Given the description of an element on the screen output the (x, y) to click on. 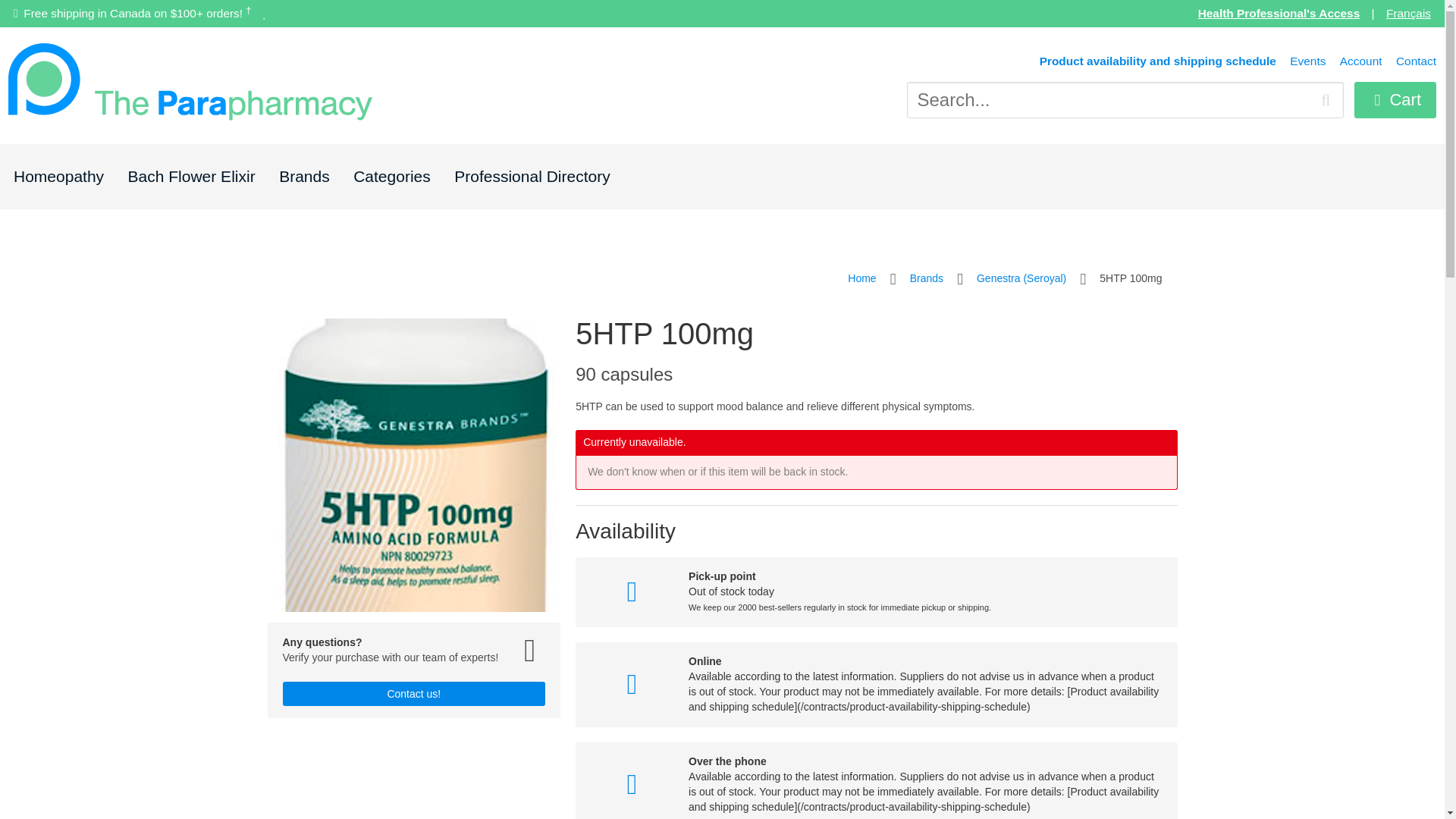
Brands (926, 278)
Categories (391, 176)
Professional Directory (532, 176)
Cart (1394, 99)
Bach Flower Elixir (192, 176)
Account (1360, 60)
Events (1307, 60)
Home (861, 278)
Homeopathy (58, 176)
Brands (304, 176)
Contact us! (413, 693)
Contact (1415, 60)
Product availability and shipping schedule (1157, 60)
Health Professional's Access (1278, 12)
